Given the description of an element on the screen output the (x, y) to click on. 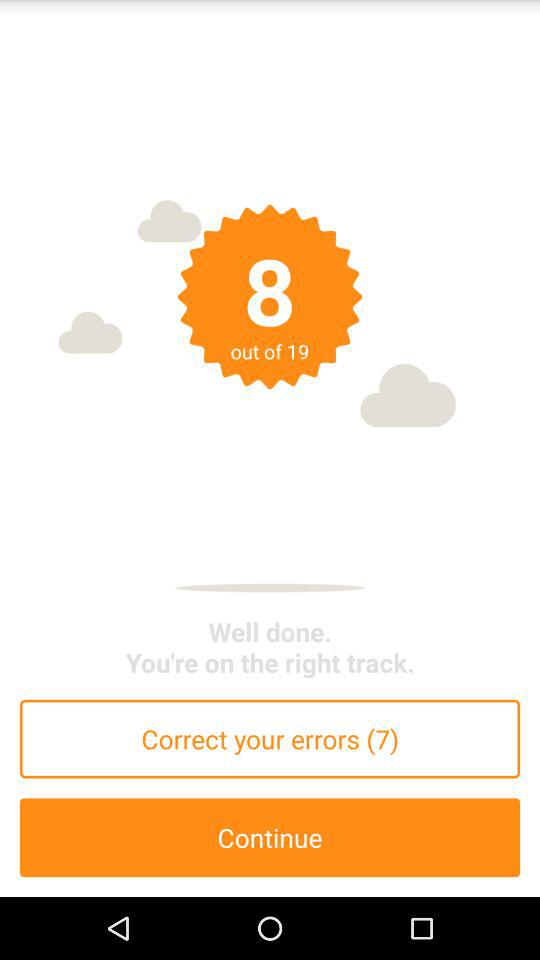
scroll to the continue item (269, 837)
